Given the description of an element on the screen output the (x, y) to click on. 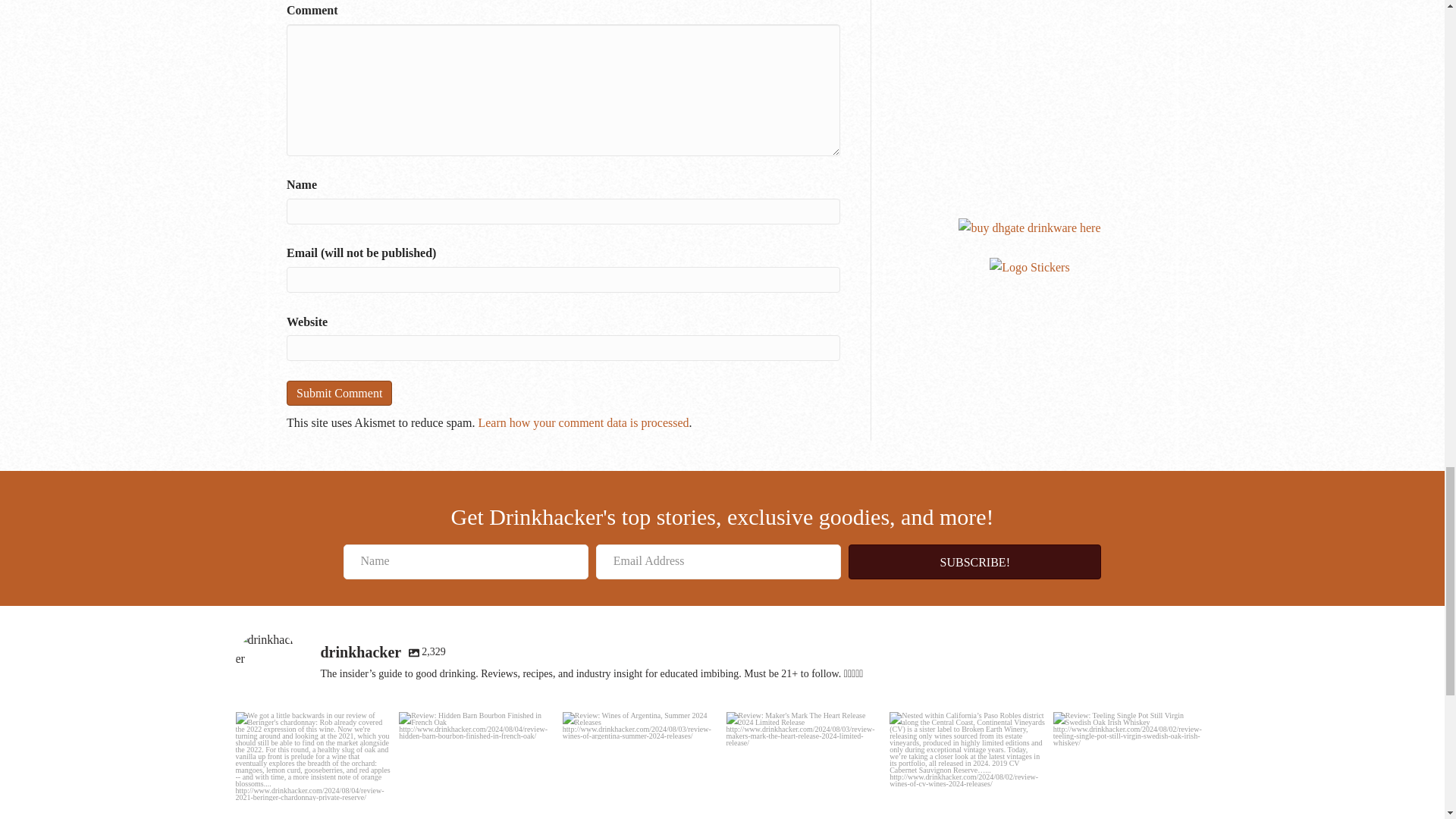
Submit Comment (338, 392)
